Given the description of an element on the screen output the (x, y) to click on. 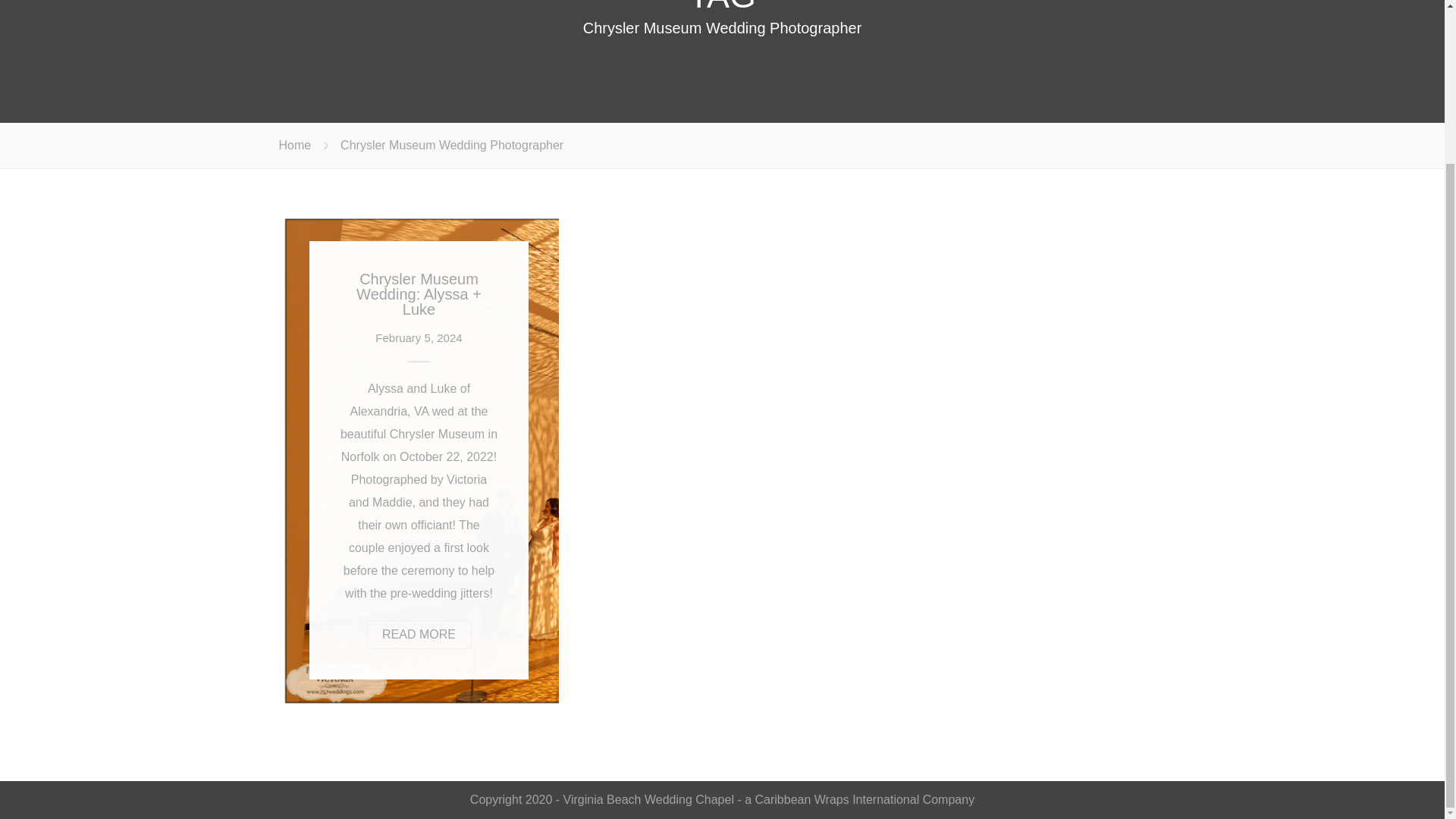
READ MORE (418, 634)
Home (295, 144)
